Given the description of an element on the screen output the (x, y) to click on. 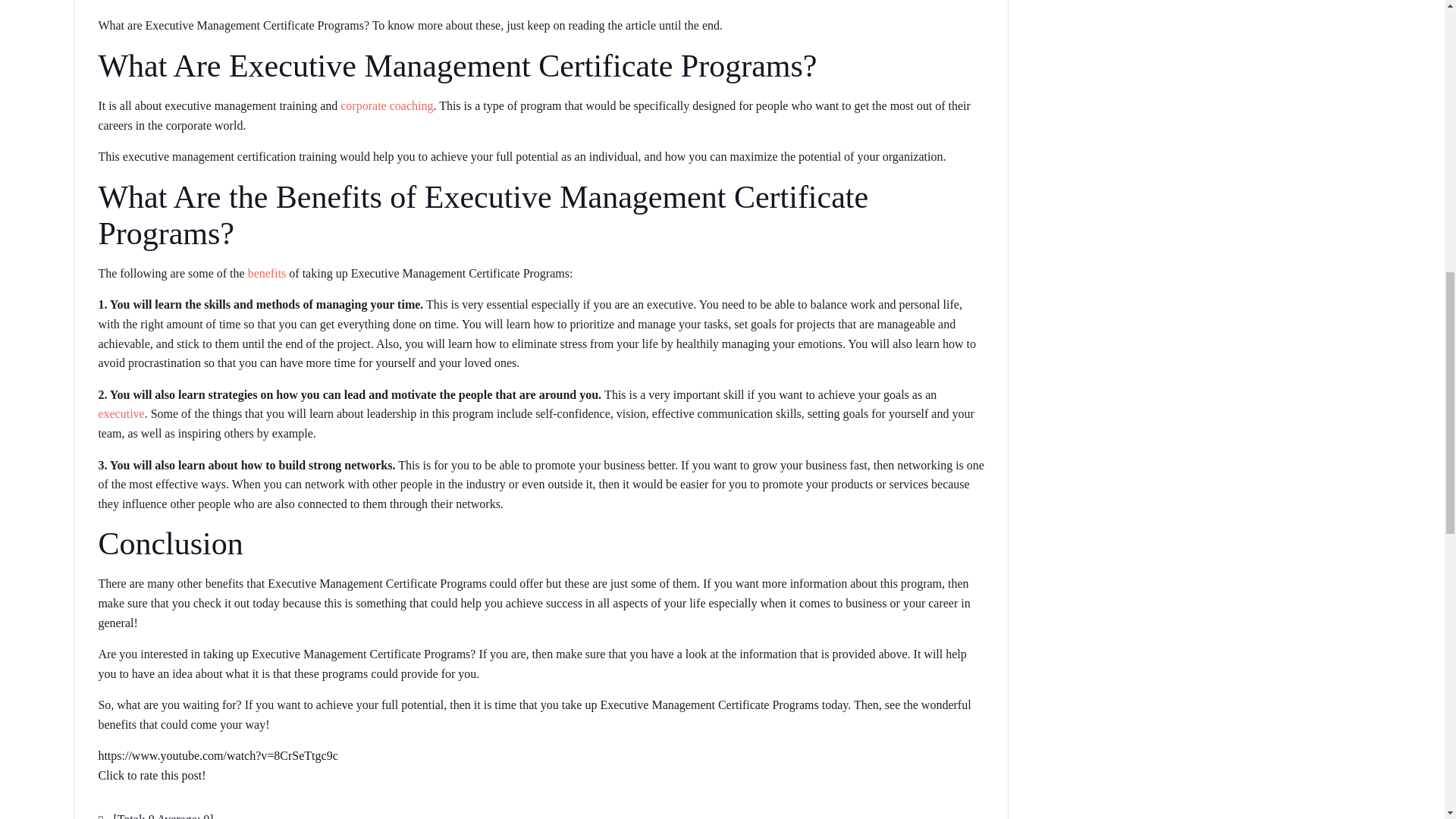
executive-vp.com Team (154, 0)
corporate coaching (386, 105)
benefits (268, 273)
10:19 am (253, 0)
executive (120, 413)
